Given the description of an element on the screen output the (x, y) to click on. 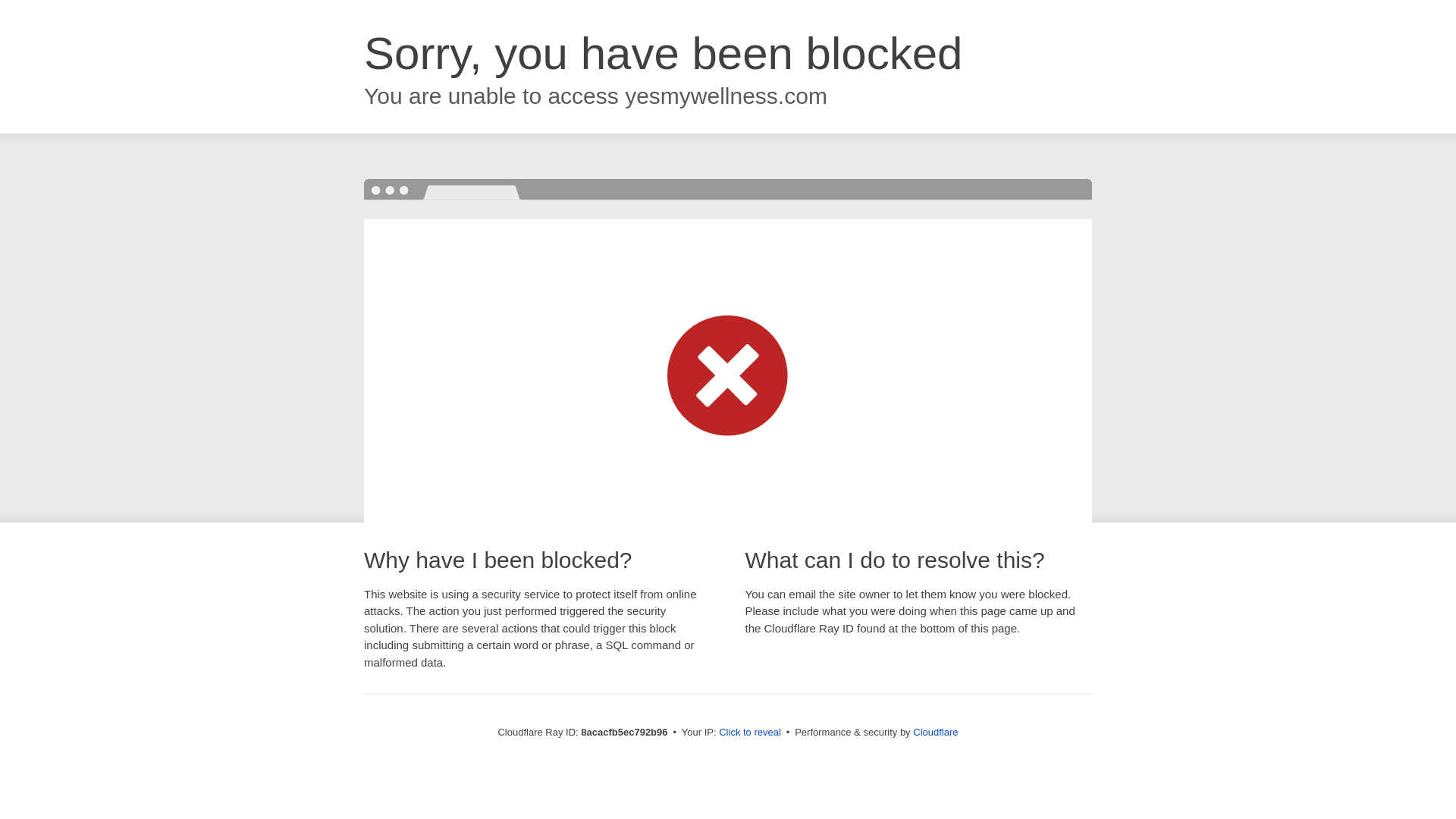
Click to reveal (749, 732)
Cloudflare (935, 731)
